Given the description of an element on the screen output the (x, y) to click on. 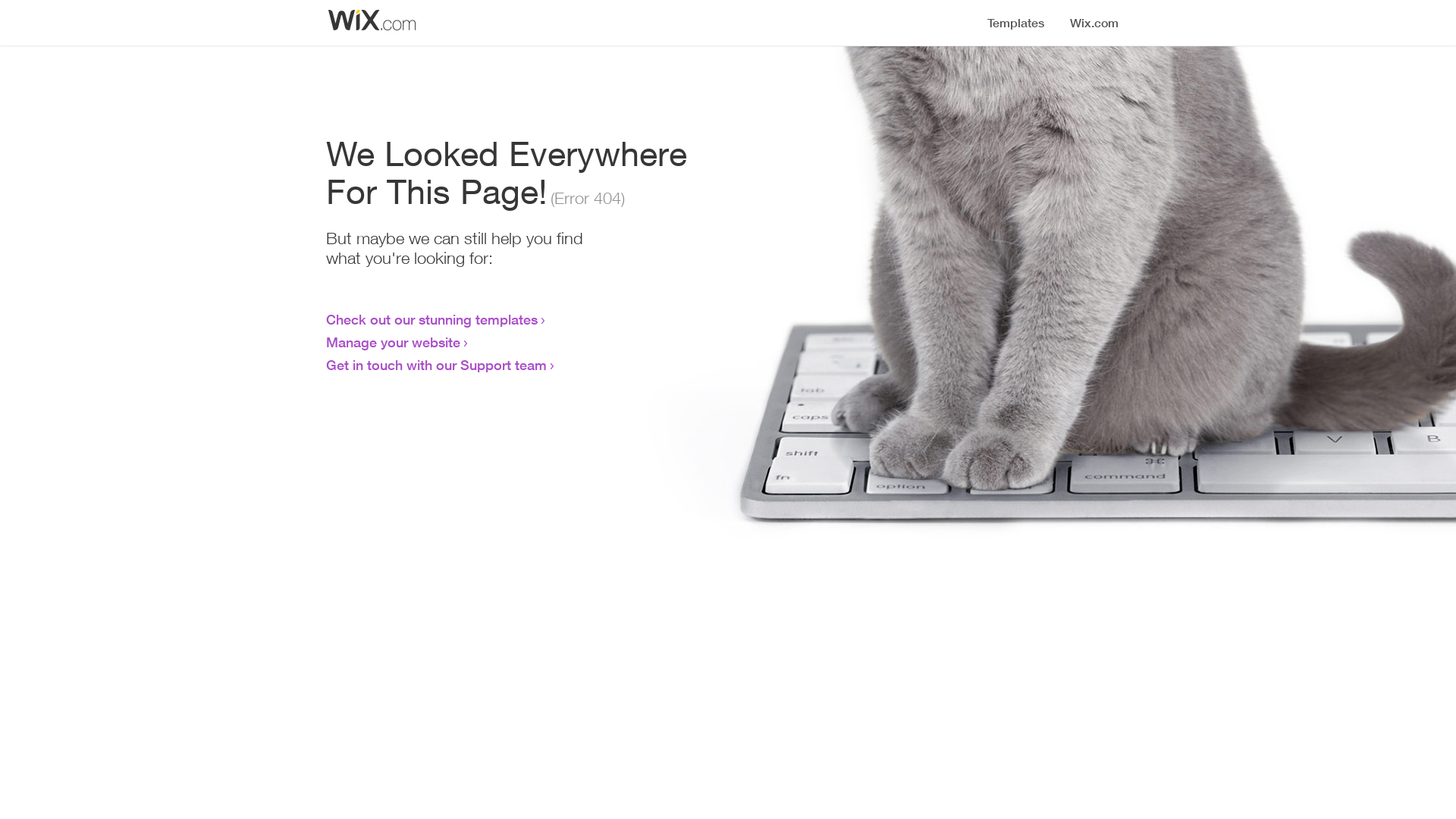
Check out our stunning templates Element type: text (431, 318)
Manage your website Element type: text (393, 341)
Get in touch with our Support team Element type: text (436, 364)
